Given the description of an element on the screen output the (x, y) to click on. 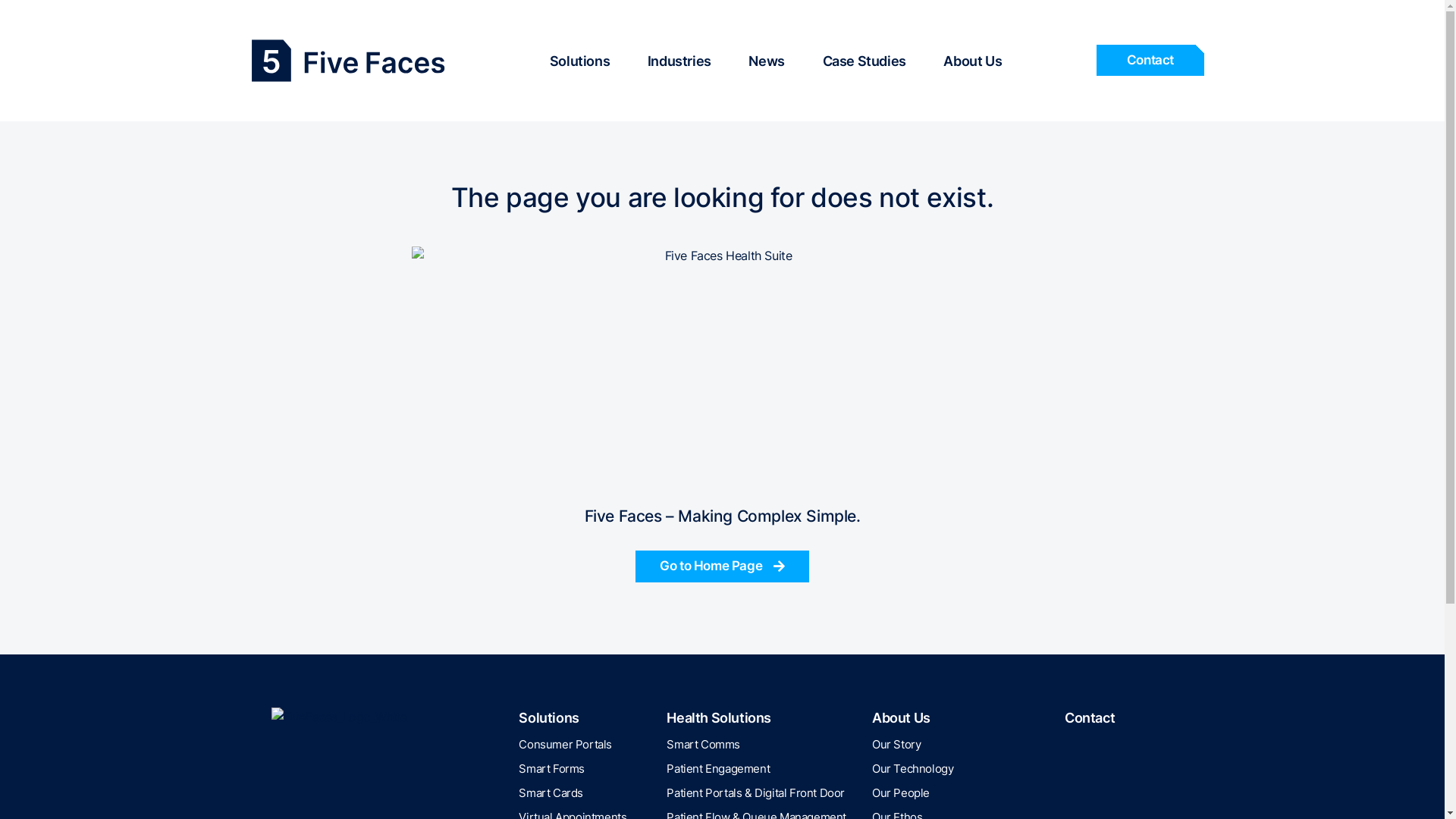
Smart Forms Element type: text (551, 768)
Go to Home Page Element type: text (722, 566)
Contact Element type: text (1150, 59)
Solutions Element type: text (579, 52)
News Element type: text (766, 52)
Patient Portals & Digital Front Door Element type: text (755, 793)
Case Studies Element type: text (863, 52)
About Us Element type: text (972, 52)
Our People Element type: text (900, 793)
About Us Element type: text (901, 717)
Smart Comms Element type: text (703, 744)
Solutions Element type: text (548, 717)
Smart Cards Element type: text (550, 793)
Health Solutions Element type: text (718, 717)
Our Technology Element type: text (912, 768)
Consumer Portals Element type: text (564, 744)
Patient Engagement Element type: text (717, 768)
Contact Element type: text (1089, 717)
Our Story Element type: text (896, 744)
Industries Element type: text (679, 52)
